Given the description of an element on the screen output the (x, y) to click on. 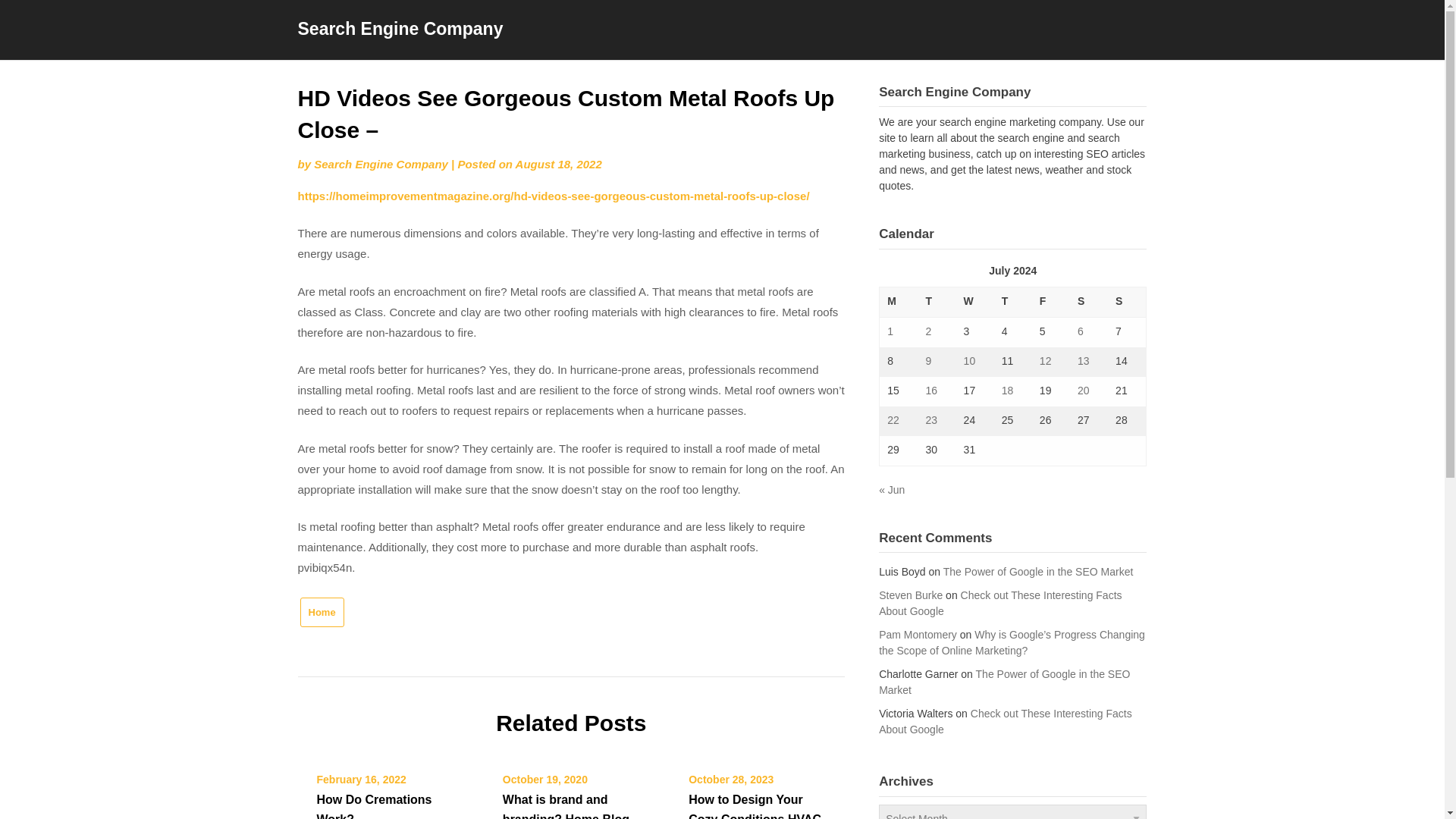
Sunday (1127, 301)
What is brand and branding? Home Blog Post (565, 806)
23 (930, 419)
The Power of Google in the SEO Market (1004, 682)
Thursday (1013, 301)
August 18, 2022 (558, 164)
Check out These Interesting Facts About Google (1000, 602)
Check out These Interesting Facts About Google (1005, 721)
Search Engine Company (381, 164)
Home (321, 612)
10 (969, 360)
Friday (1051, 301)
12 (1045, 360)
20 (1083, 390)
Tuesday (936, 301)
